Given the description of an element on the screen output the (x, y) to click on. 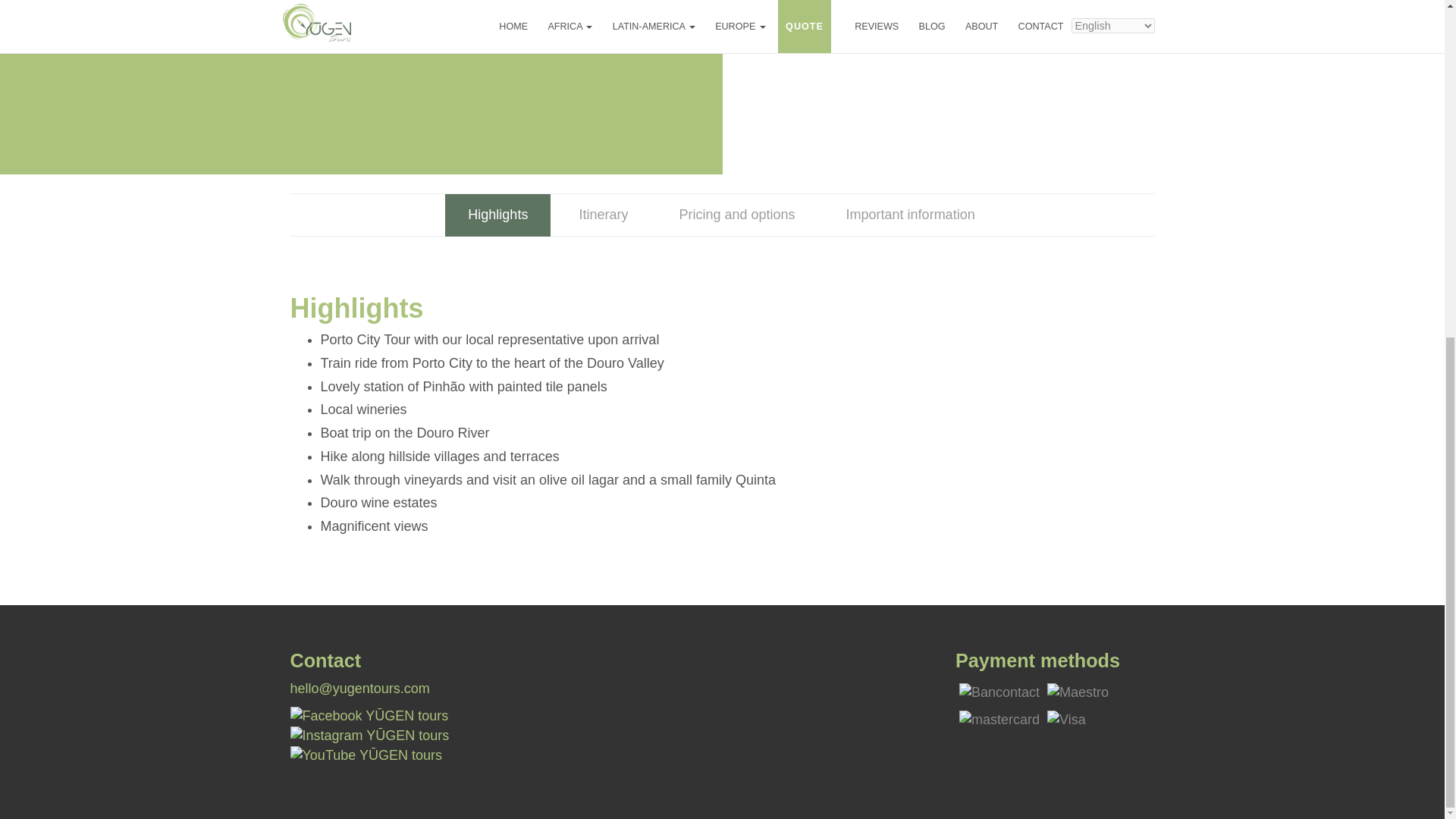
Pricing and options (736, 215)
Highlights (497, 215)
Important information (910, 215)
Itinerary (603, 215)
